Given the description of an element on the screen output the (x, y) to click on. 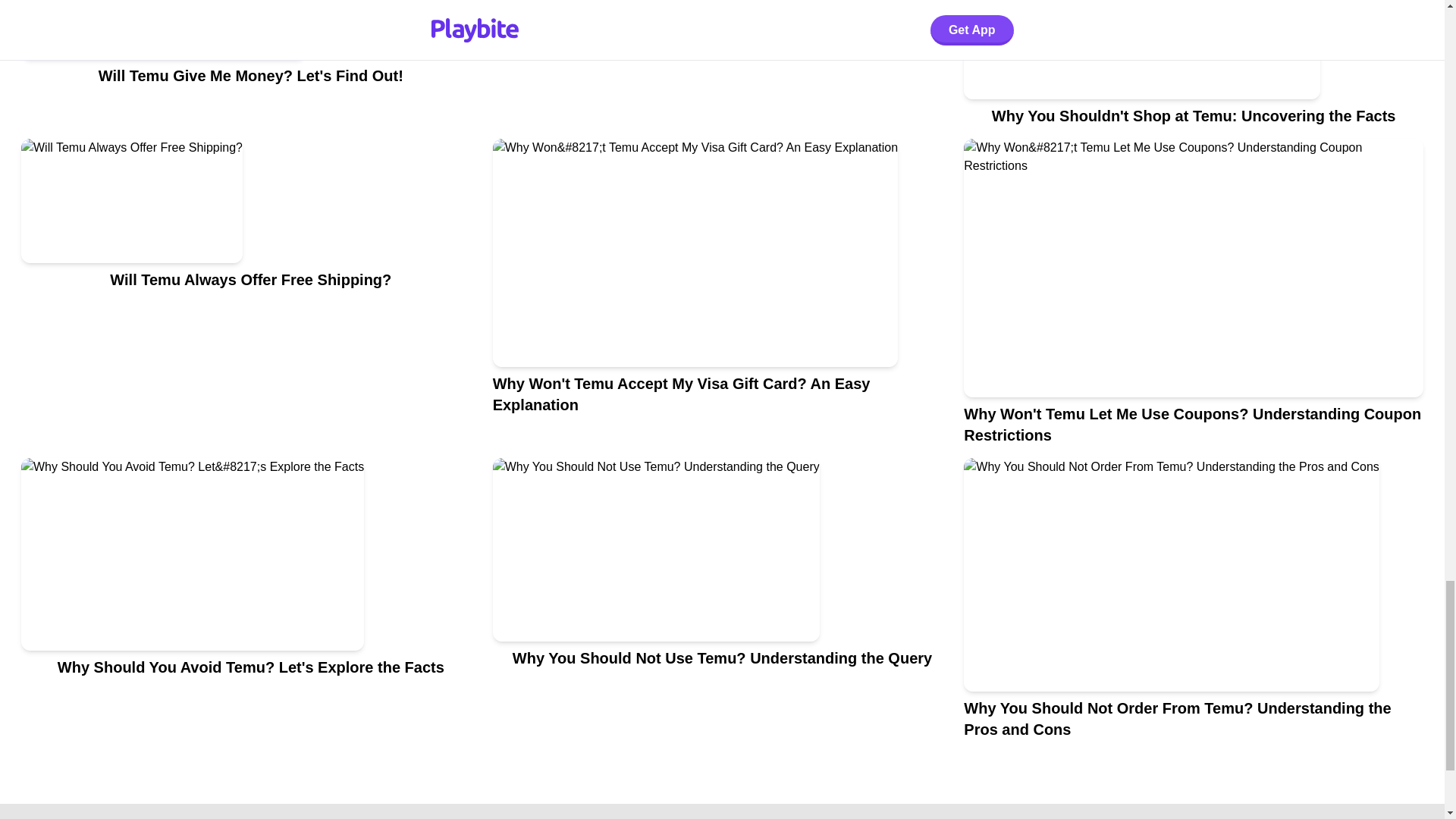
Will Temu Give Me Money? Let's Find Out! (250, 69)
Why You Shouldn't Shop at Temu: Uncovering the Facts (1193, 69)
